Given the description of an element on the screen output the (x, y) to click on. 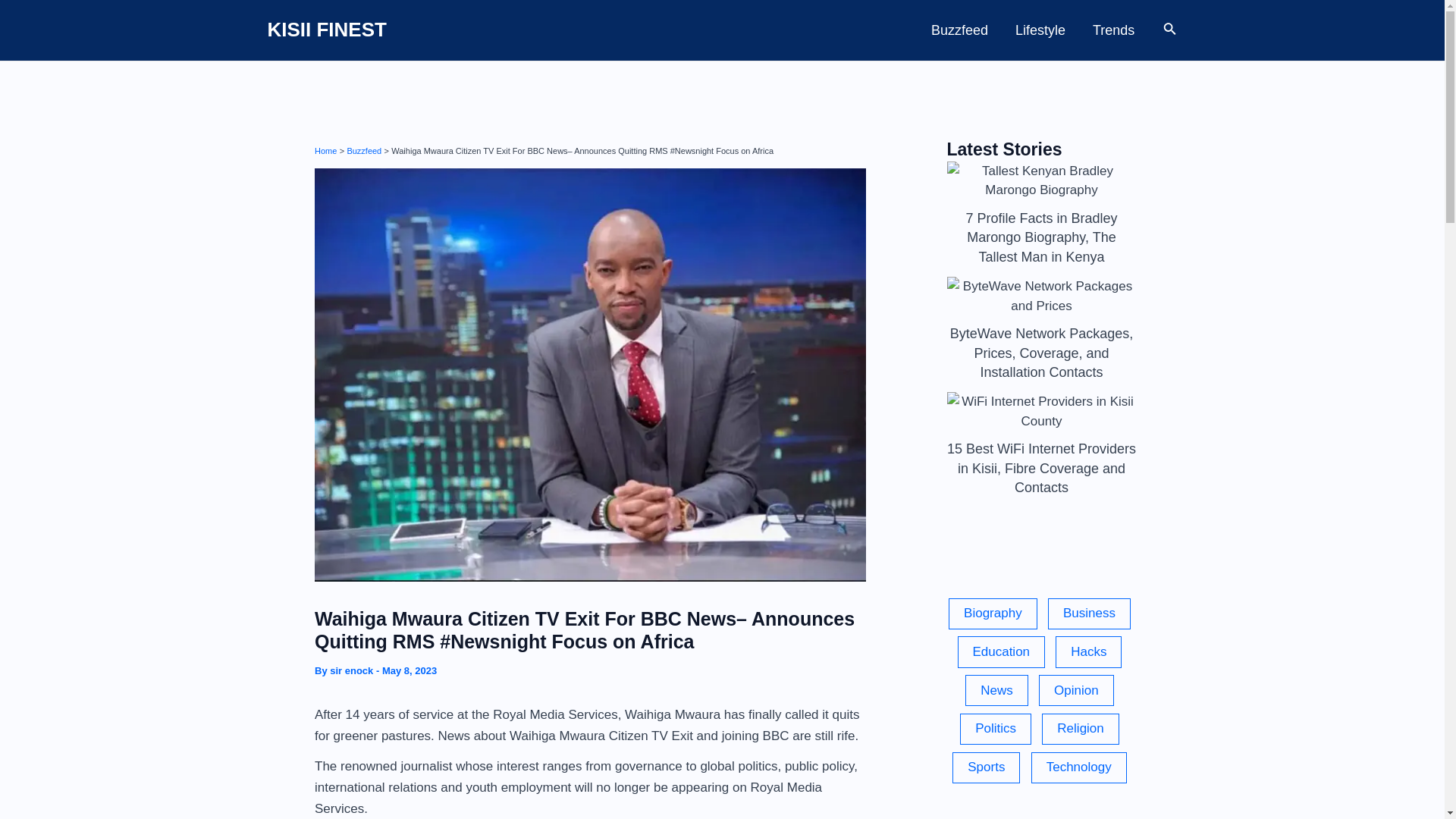
sir enock (352, 670)
Buzzfeed (959, 30)
Home (325, 149)
Trends (1113, 30)
View all posts by sir enock (352, 670)
Lifestyle (1039, 30)
KISII FINEST (325, 29)
